Given the description of an element on the screen output the (x, y) to click on. 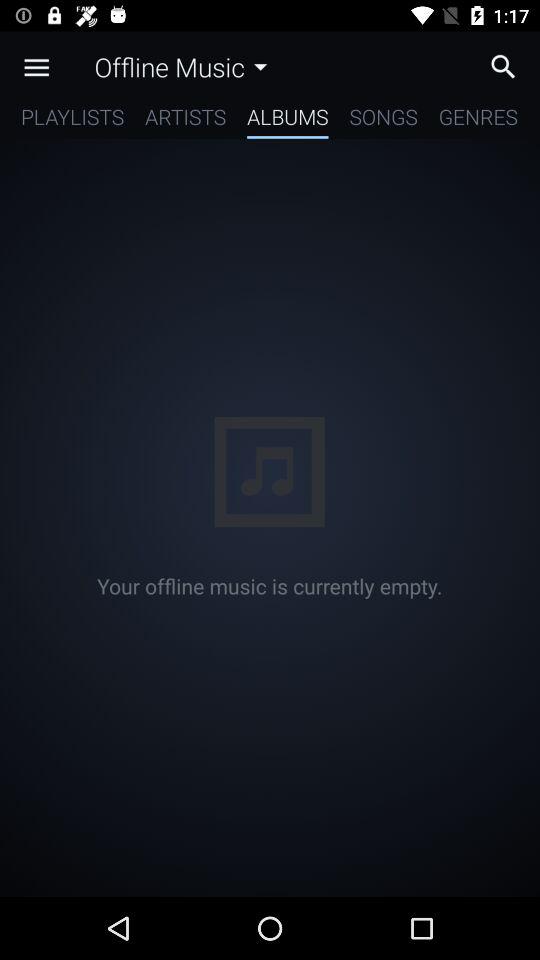
flip until the genres (477, 120)
